Given the description of an element on the screen output the (x, y) to click on. 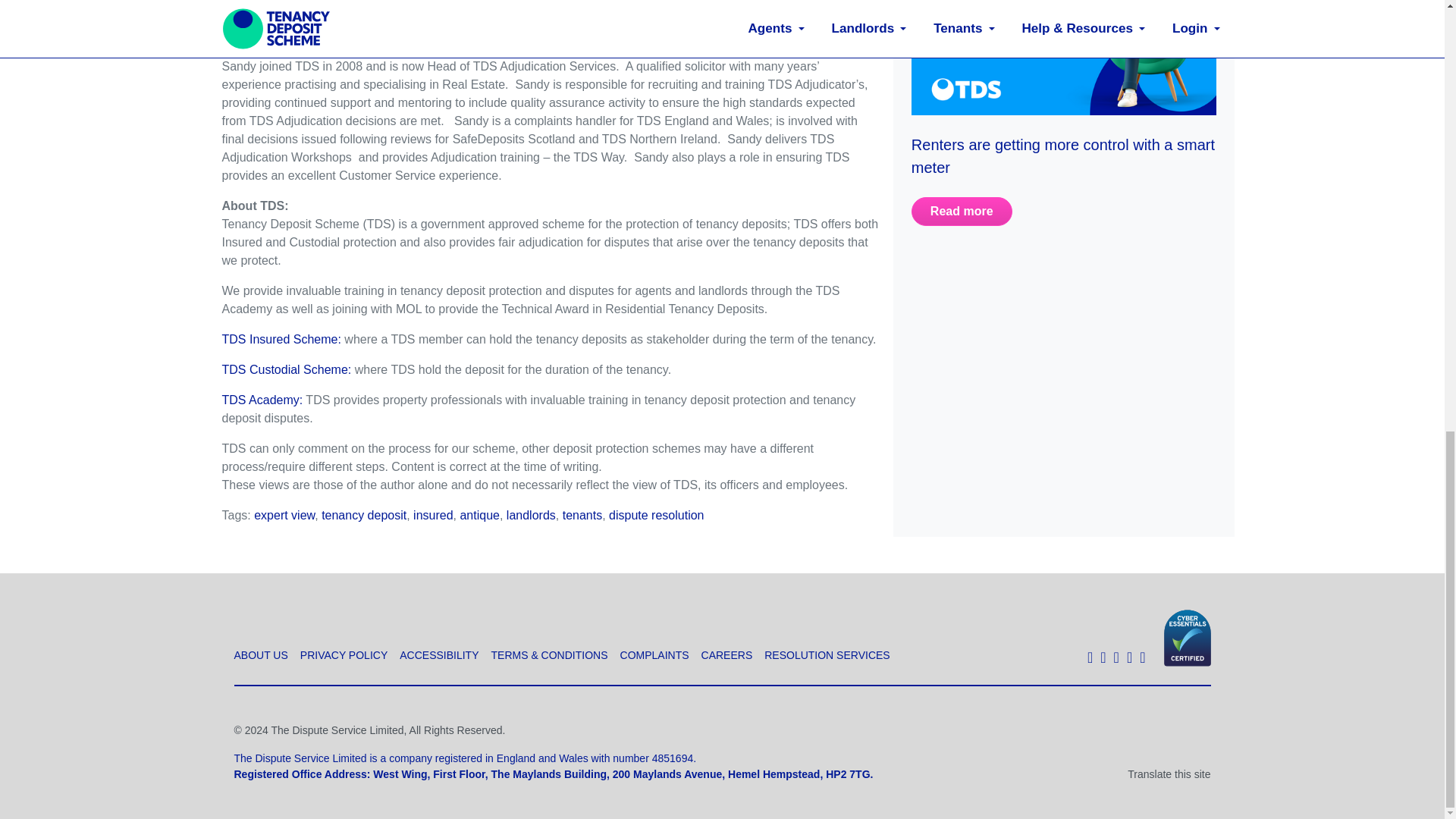
dispute resolution (655, 514)
TDS Custodial Scheme: (285, 369)
antique (479, 514)
TDS Academy: (261, 399)
tenancy deposit (363, 514)
landlords (531, 514)
insured (432, 514)
expert view (283, 514)
tenants (582, 514)
TDS Insured Scheme: (280, 338)
